Given the description of an element on the screen output the (x, y) to click on. 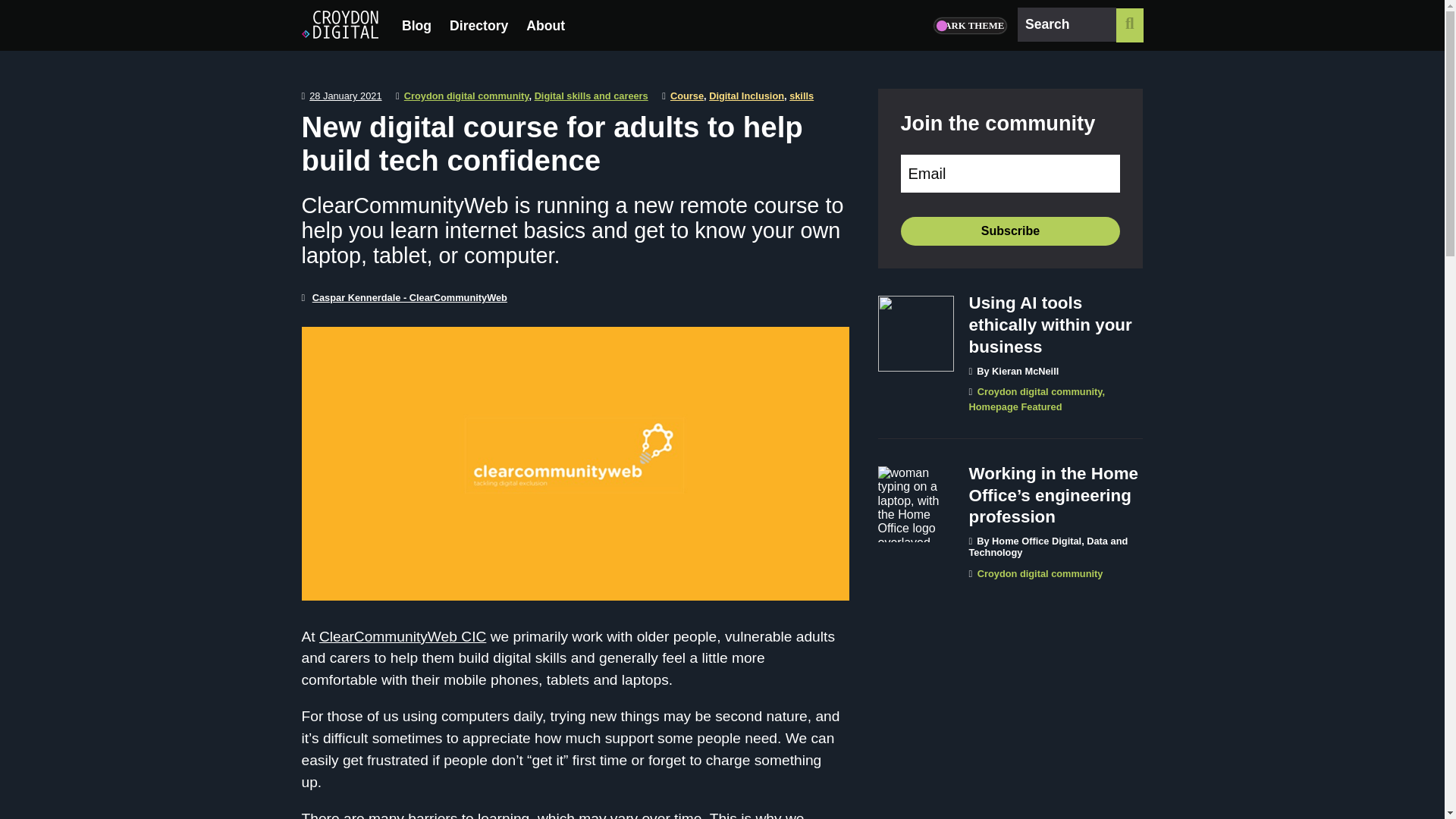
28 January 2021 (344, 95)
Using AI tools ethically within your business (1050, 326)
Subscribe (1011, 231)
Course (686, 95)
Caspar Kennerdale - ClearCommunityWeb (409, 297)
Subscribe (1011, 231)
Croydon digital community (1039, 391)
skills (801, 95)
About (544, 25)
ClearCommunityWeb CIC (402, 636)
